Given the description of an element on the screen output the (x, y) to click on. 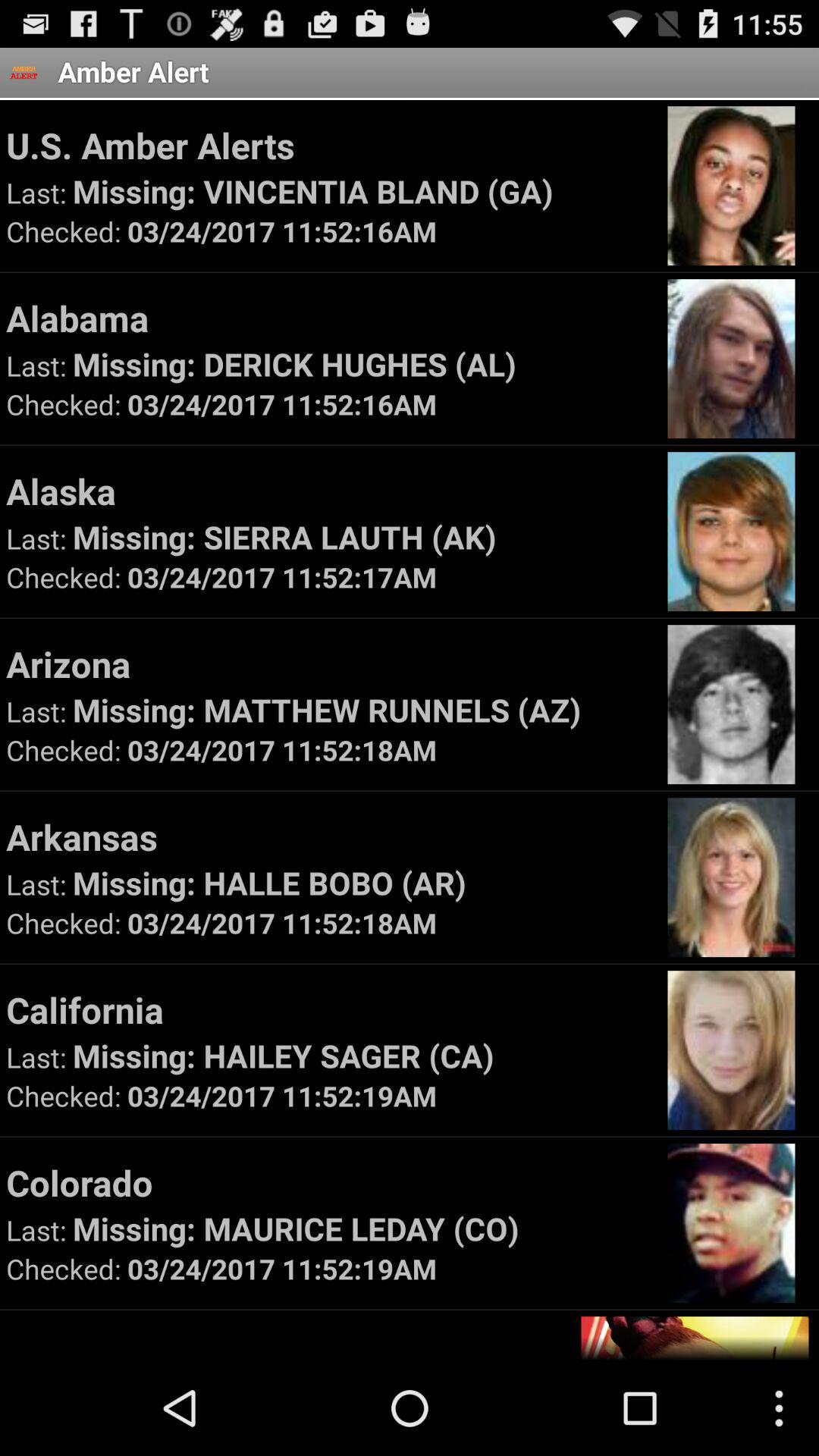
choose arkansas (329, 836)
